Given the description of an element on the screen output the (x, y) to click on. 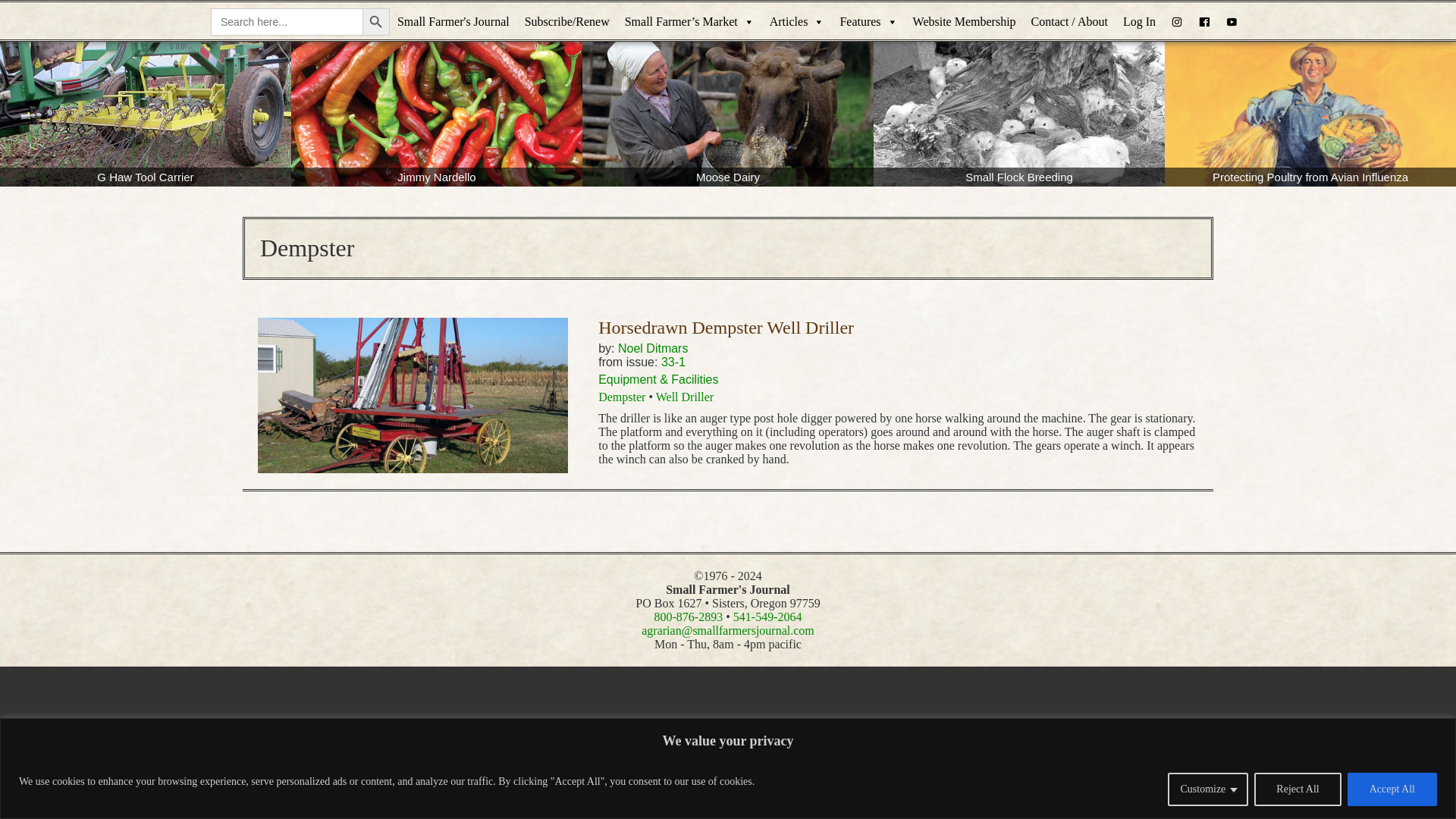
Articles (796, 21)
Features (867, 21)
Search Button (376, 22)
Small Farmer's Journal (453, 21)
